Given the description of an element on the screen output the (x, y) to click on. 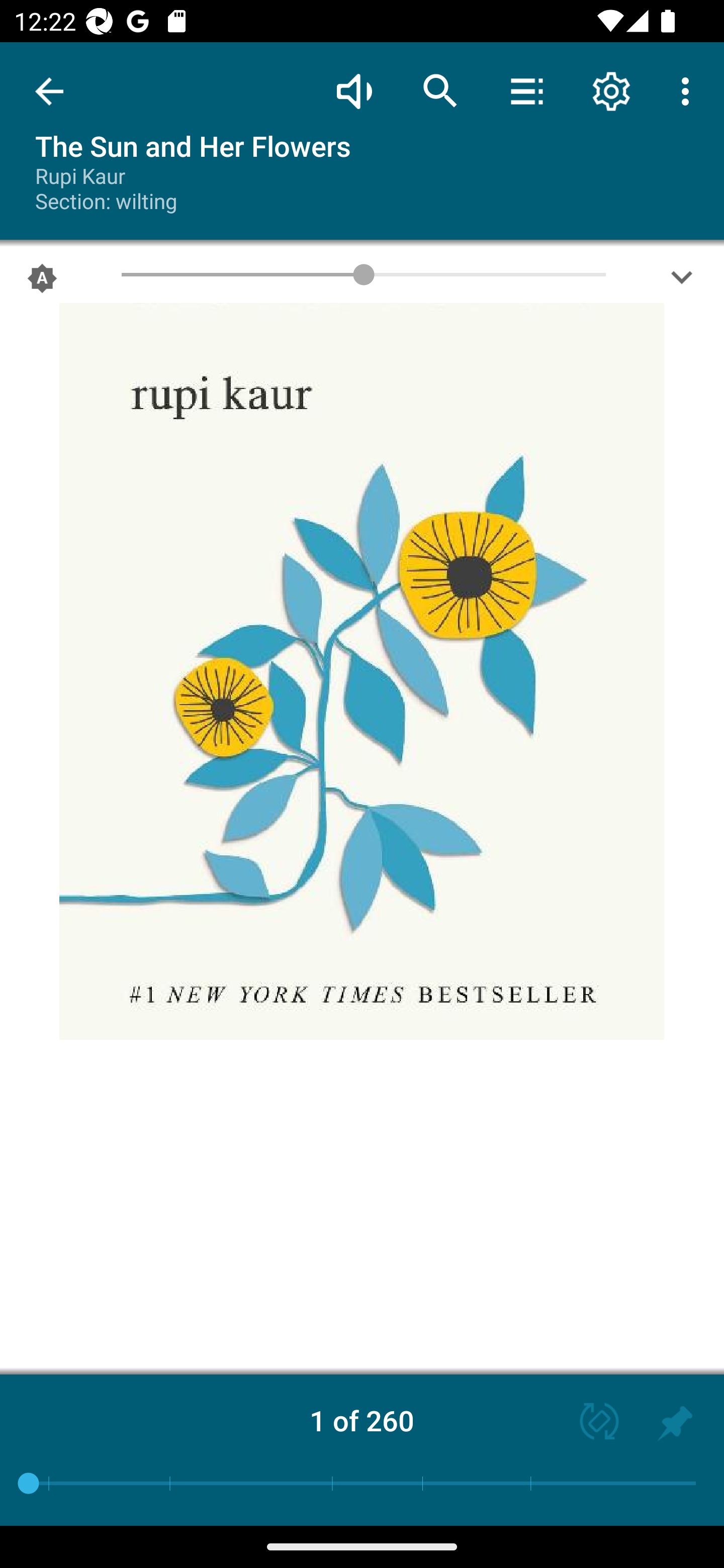
Exit reading (49, 91)
Read aloud (354, 90)
Text search (440, 90)
Contents / Bookmarks / Quotes (526, 90)
Reading settings (611, 90)
More options (688, 90)
Selected screen brightness (42, 281)
Screen brightness settings (681, 281)
1 of 260 (361, 1420)
Screen orientation (590, 1423)
Add to history (674, 1423)
